Given the description of an element on the screen output the (x, y) to click on. 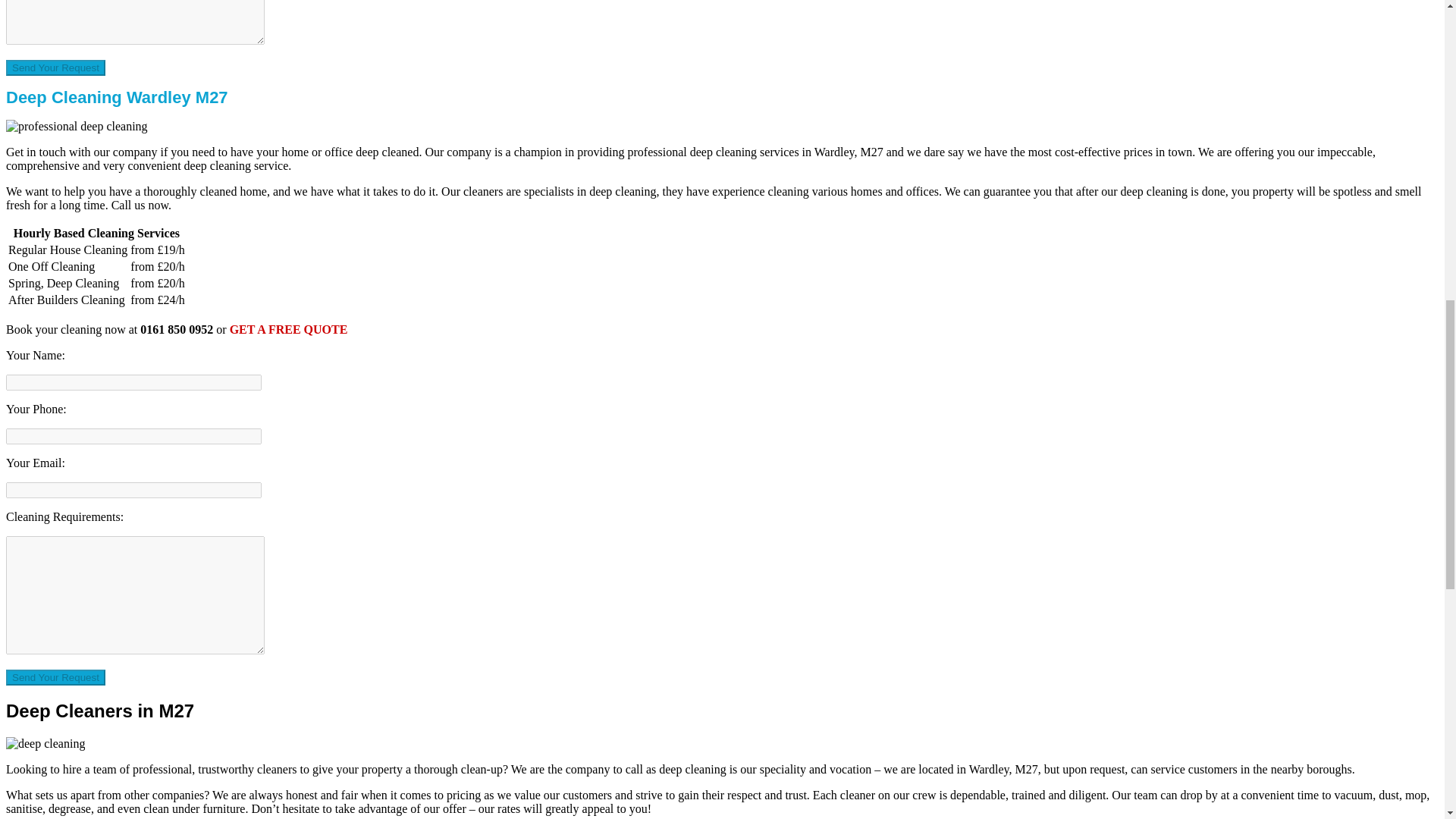
Send Your Request (54, 67)
Send Your Request (54, 67)
Send Your Request (54, 677)
Send Your Request (54, 677)
